Given the description of an element on the screen output the (x, y) to click on. 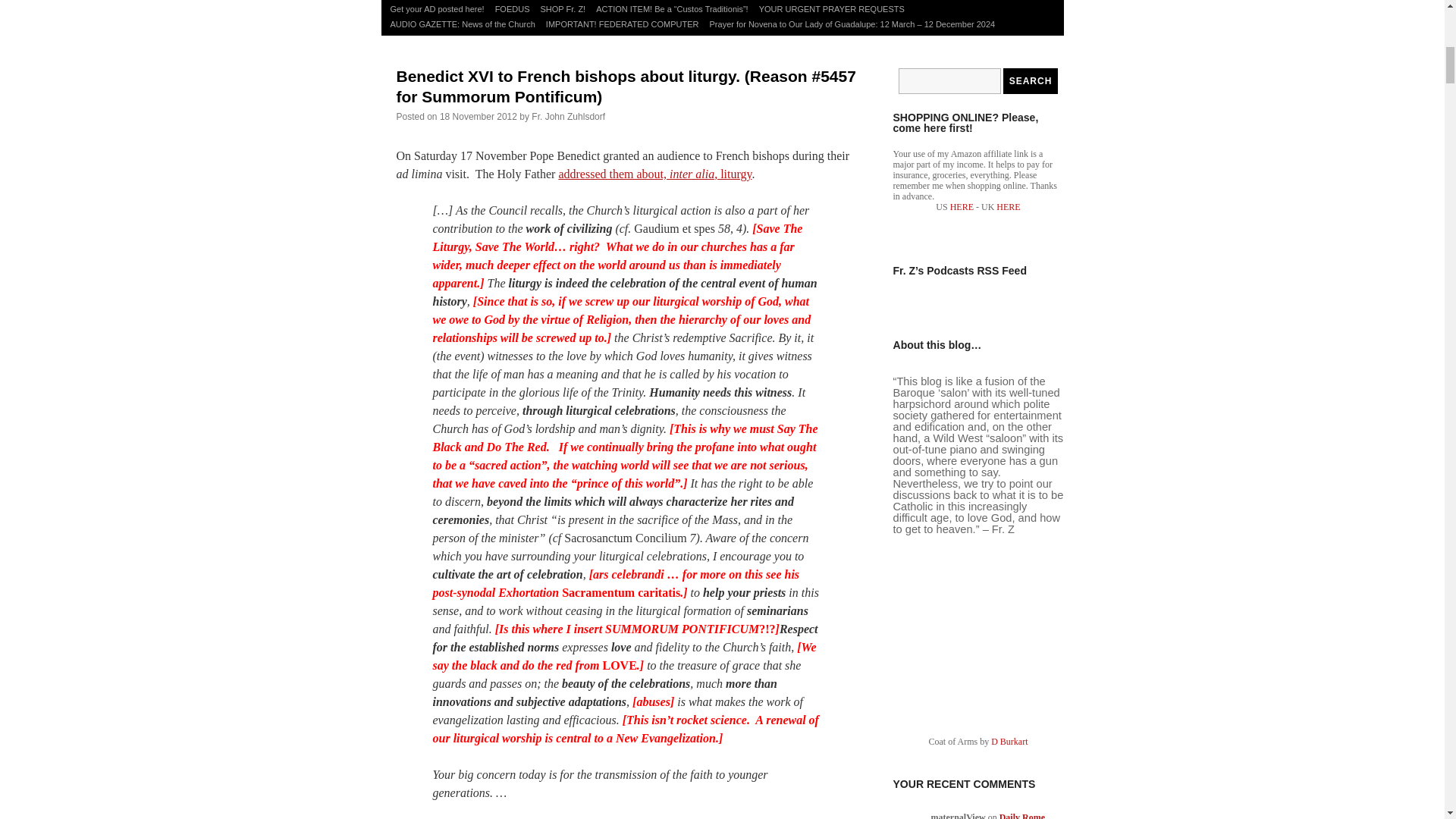
IMPORTANT! FEDERATED COMPUTER (622, 23)
Fishwrap Prayer (505, 0)
Buy Mystic Monk Coffee! (735, 0)
View all posts by Fr. John Zuhlsdorf (568, 116)
18 November 2012 (477, 116)
Search (1030, 80)
Get your AD posted here! (437, 8)
YOUR URGENT PRAYER REQUESTS (832, 8)
SHOP Fr. Z! (562, 8)
FOEDUS (512, 8)
10:08 AM (477, 116)
AUDIO GAZETTE: News of the Church (462, 23)
Prayer for Vocations (427, 0)
Fr. John Zuhlsdorf (568, 116)
ACTIVATE YOUR CONFIRMATION (612, 0)
